Given the description of an element on the screen output the (x, y) to click on. 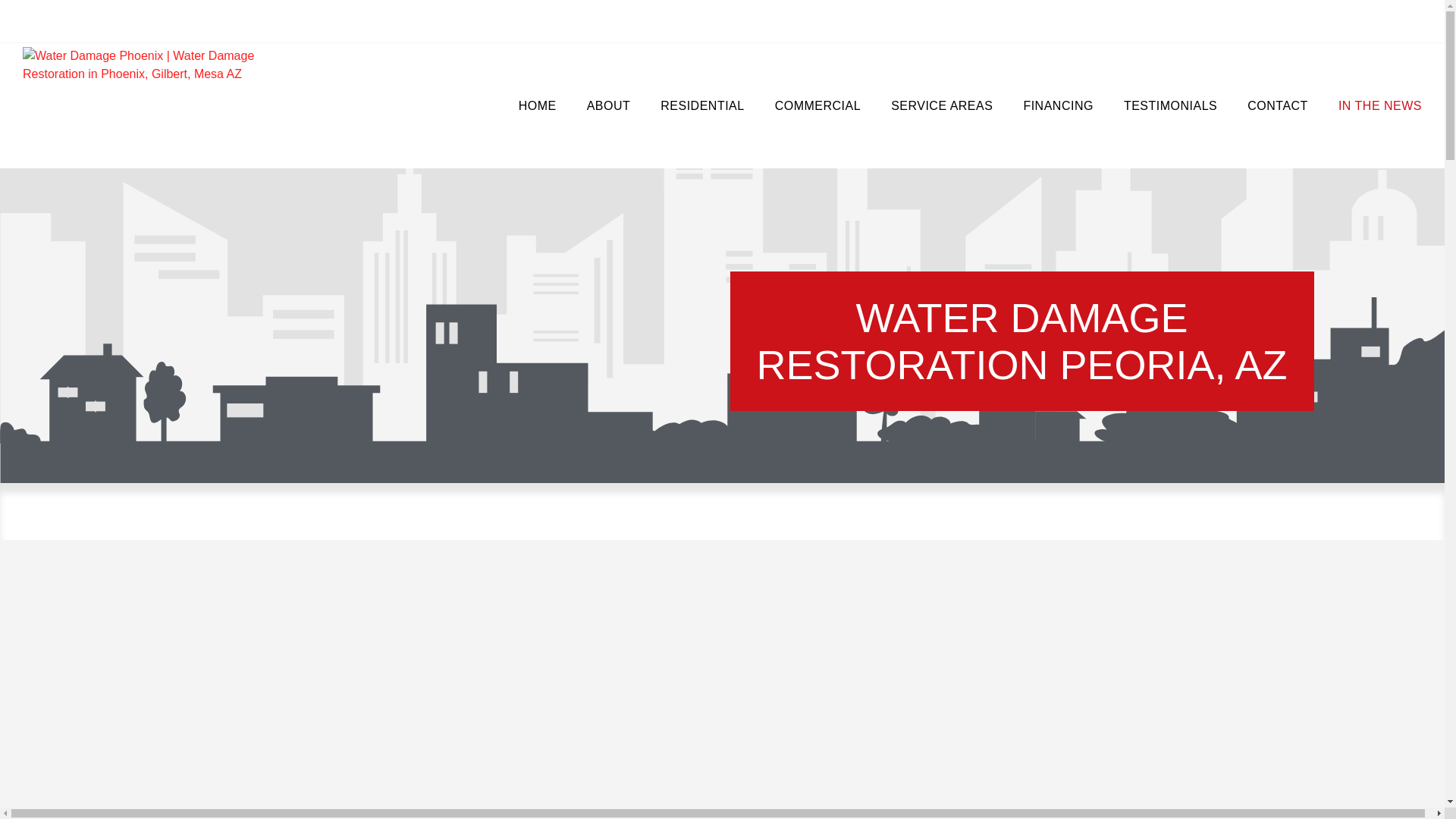
HOME (537, 106)
COMMERCIAL (818, 106)
CONTACT (1277, 106)
TESTIMONIALS (1169, 106)
ABOUT (609, 106)
RESIDENTIAL (701, 106)
IN THE NEWS (1380, 106)
FINANCING (1057, 106)
SERVICE AREAS (941, 106)
